Given the description of an element on the screen output the (x, y) to click on. 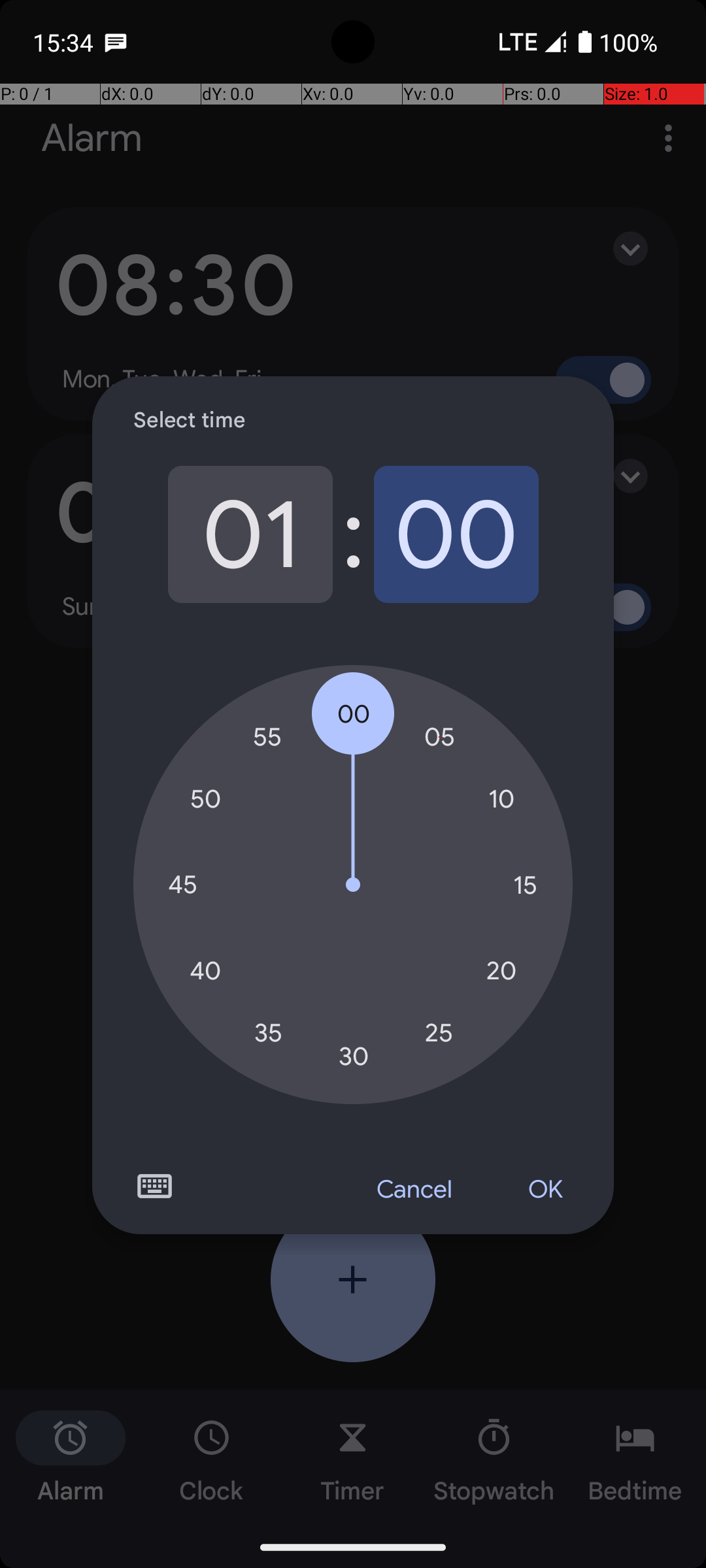
01 Element type: android.view.View (250, 534)
